Given the description of an element on the screen output the (x, y) to click on. 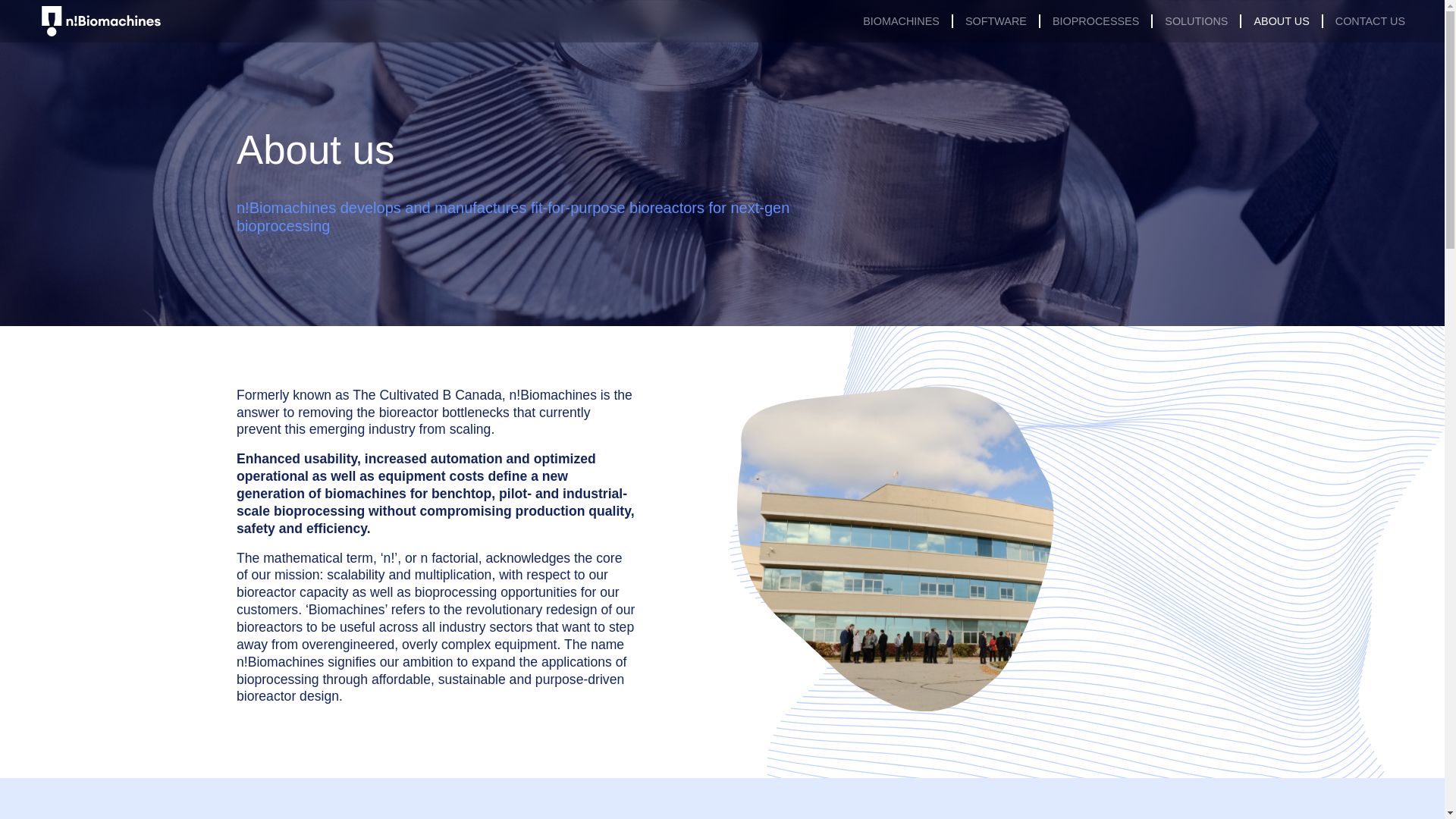
BIOMACHINES (901, 21)
ABOUT US (1280, 21)
BIOPROCESSES (1095, 21)
CONTACT US (1369, 21)
SOLUTIONS (1195, 21)
SOFTWARE (995, 21)
